Given the description of an element on the screen output the (x, y) to click on. 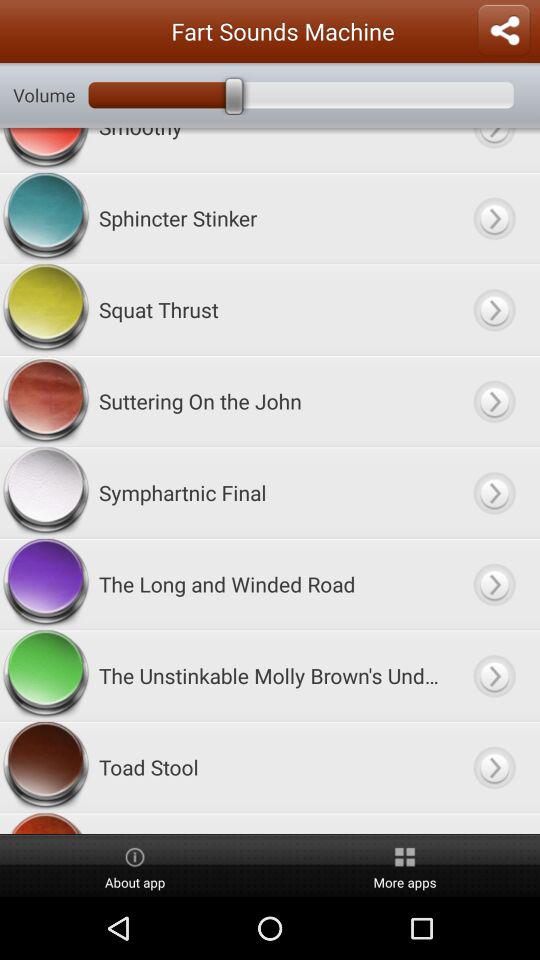
go forward to smoothy (494, 149)
